Given the description of an element on the screen output the (x, y) to click on. 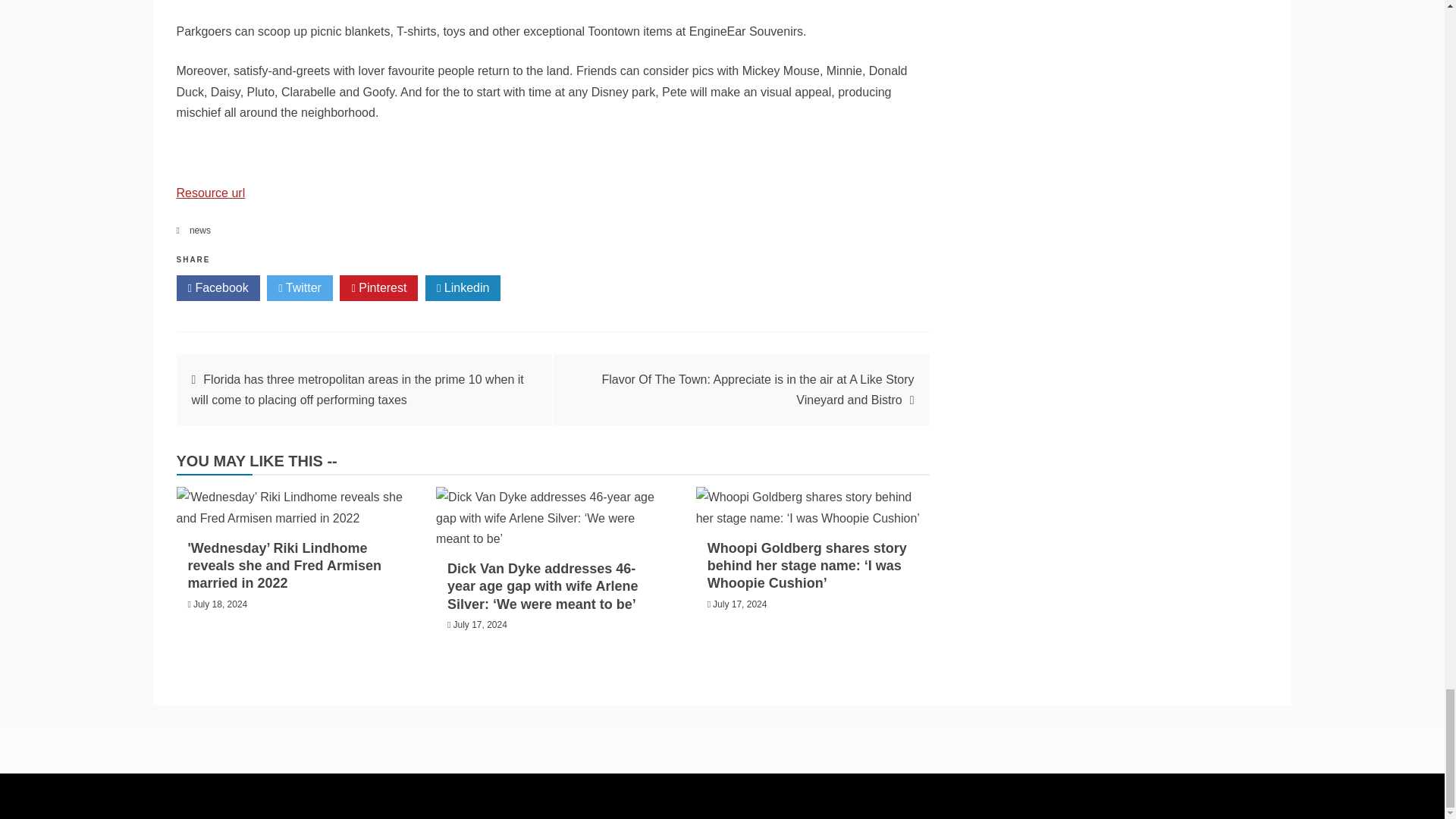
Twitter (299, 288)
July 17, 2024 (479, 624)
news (200, 230)
Resource url (210, 192)
July 17, 2024 (740, 603)
July 18, 2024 (220, 603)
Facebook (217, 288)
Pinterest (378, 288)
Linkedin (462, 288)
